Given the description of an element on the screen output the (x, y) to click on. 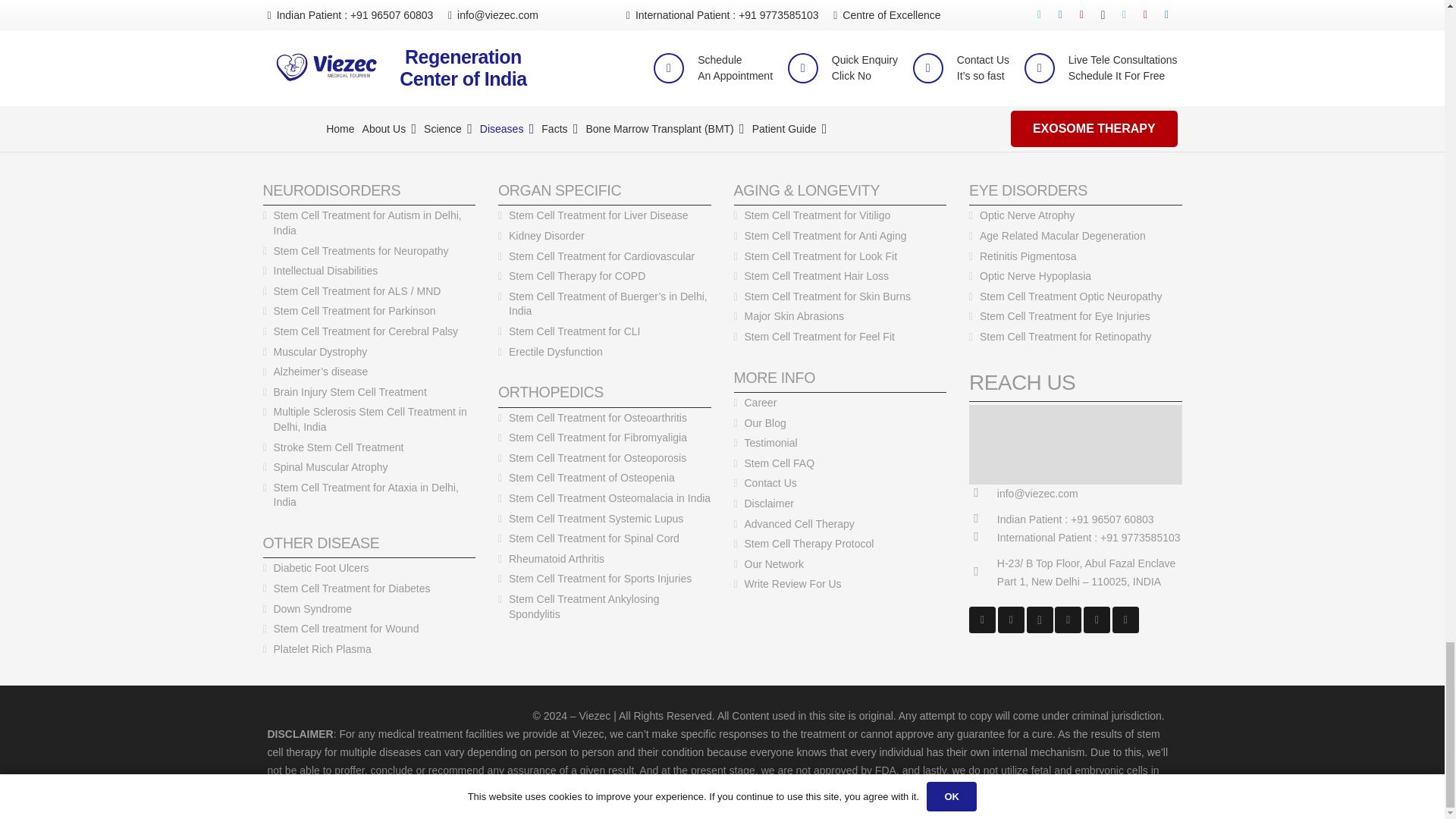
Stem Cell Treatment for Orthopedic (550, 392)
Organ Specific Stem Cell Treatment in India (559, 190)
Stem Cell Treatment of Neurodisorder in India (331, 190)
Stem Cell Treatment for Eyes in Delhi, India (1028, 190)
